Given the description of an element on the screen output the (x, y) to click on. 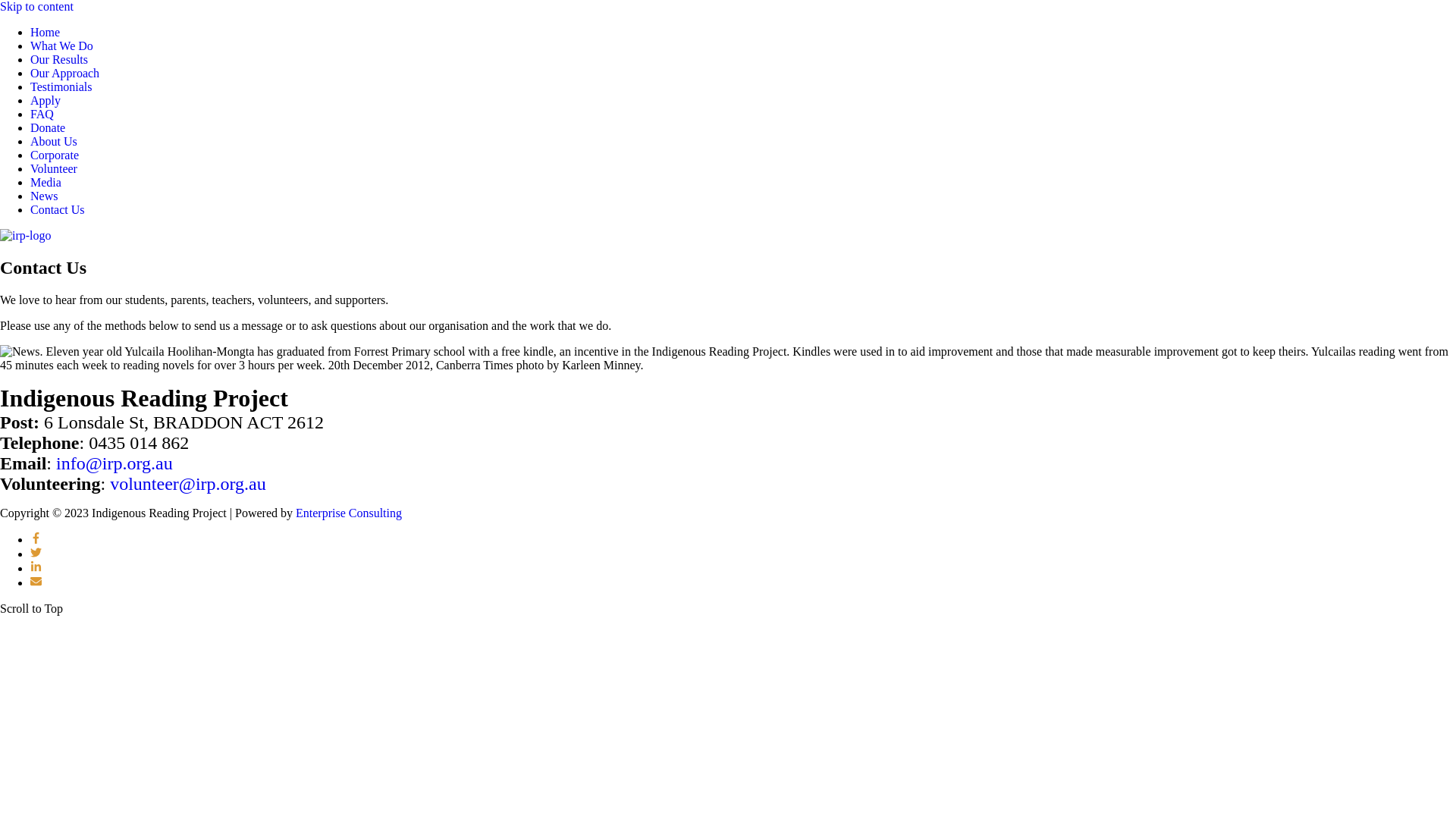
Testimonials Element type: text (61, 86)
Our Approach Element type: text (64, 72)
Our Results Element type: text (58, 59)
Home Element type: text (44, 31)
News Element type: text (43, 195)
FAQ Element type: text (41, 113)
Contact Us Element type: text (57, 209)
Media Element type: text (45, 181)
Apply Element type: text (45, 100)
About Us Element type: text (53, 140)
Volunteer Element type: text (53, 168)
Enterprise Consulting Element type: text (348, 512)
Corporate Element type: text (54, 154)
Donate Element type: text (47, 127)
Skip to content Element type: text (36, 6)
irp-logo Element type: hover (25, 235)
volunteer@irp.org.au Element type: text (187, 483)
info@irp.org.au Element type: text (114, 463)
What We Do Element type: text (61, 45)
